Given the description of an element on the screen output the (x, y) to click on. 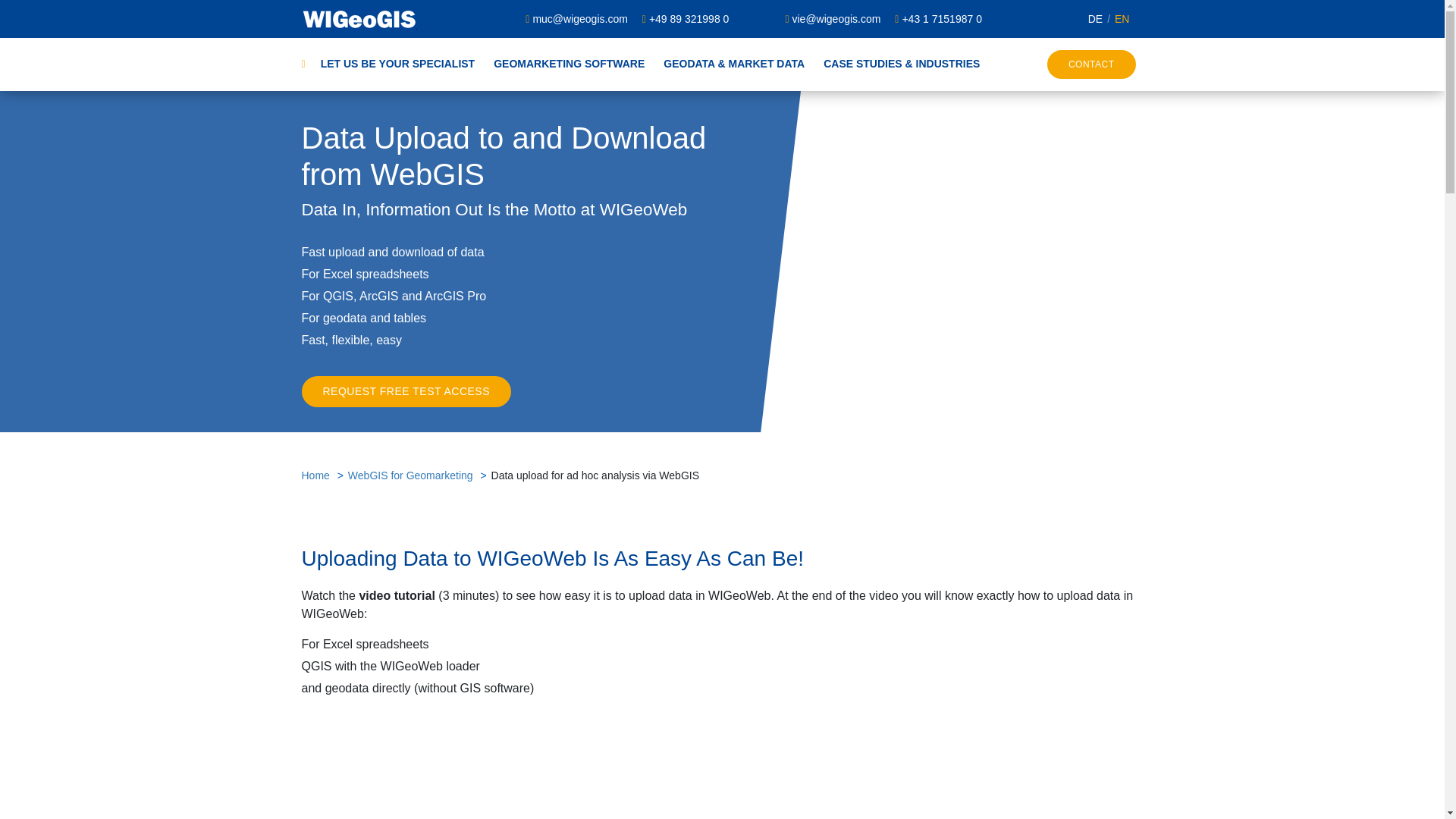
WIGeoWeb - Request free test access (406, 391)
deutsch (1094, 18)
LET US BE YOUR SPECIALIST (396, 63)
GEOMARKETING SOFTWARE (559, 63)
DE (1094, 18)
englisch (1115, 18)
REQUEST FREE TEST ACCESS (406, 391)
